Given the description of an element on the screen output the (x, y) to click on. 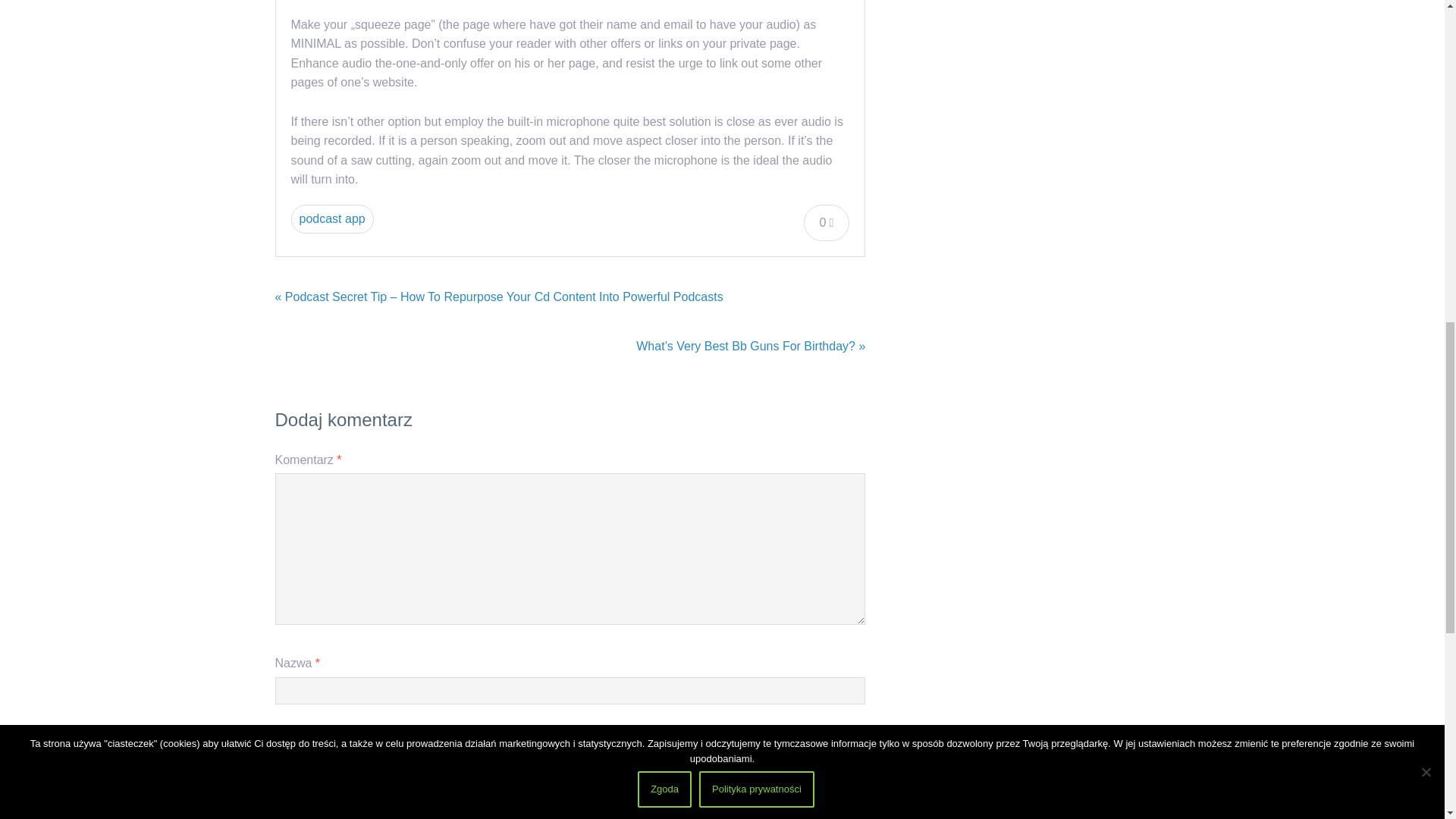
0 (826, 222)
podcast app (332, 218)
